Given the description of an element on the screen output the (x, y) to click on. 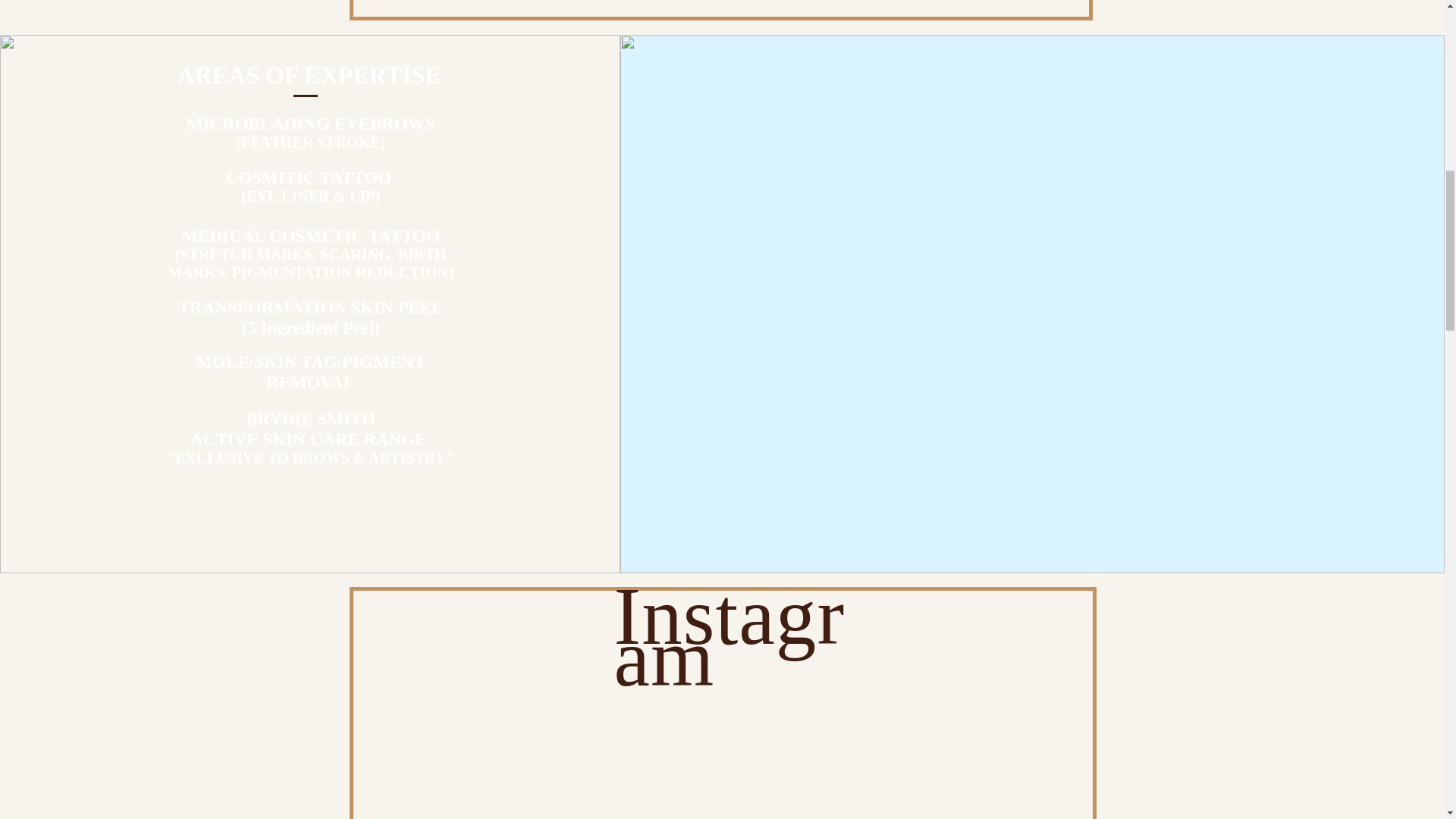
TRANSFORMATION SKIN PEEL (310, 306)
BRYDIE SMITH (310, 418)
ACTIVE SKIN CARE RANGE  (310, 438)
